Given the description of an element on the screen output the (x, y) to click on. 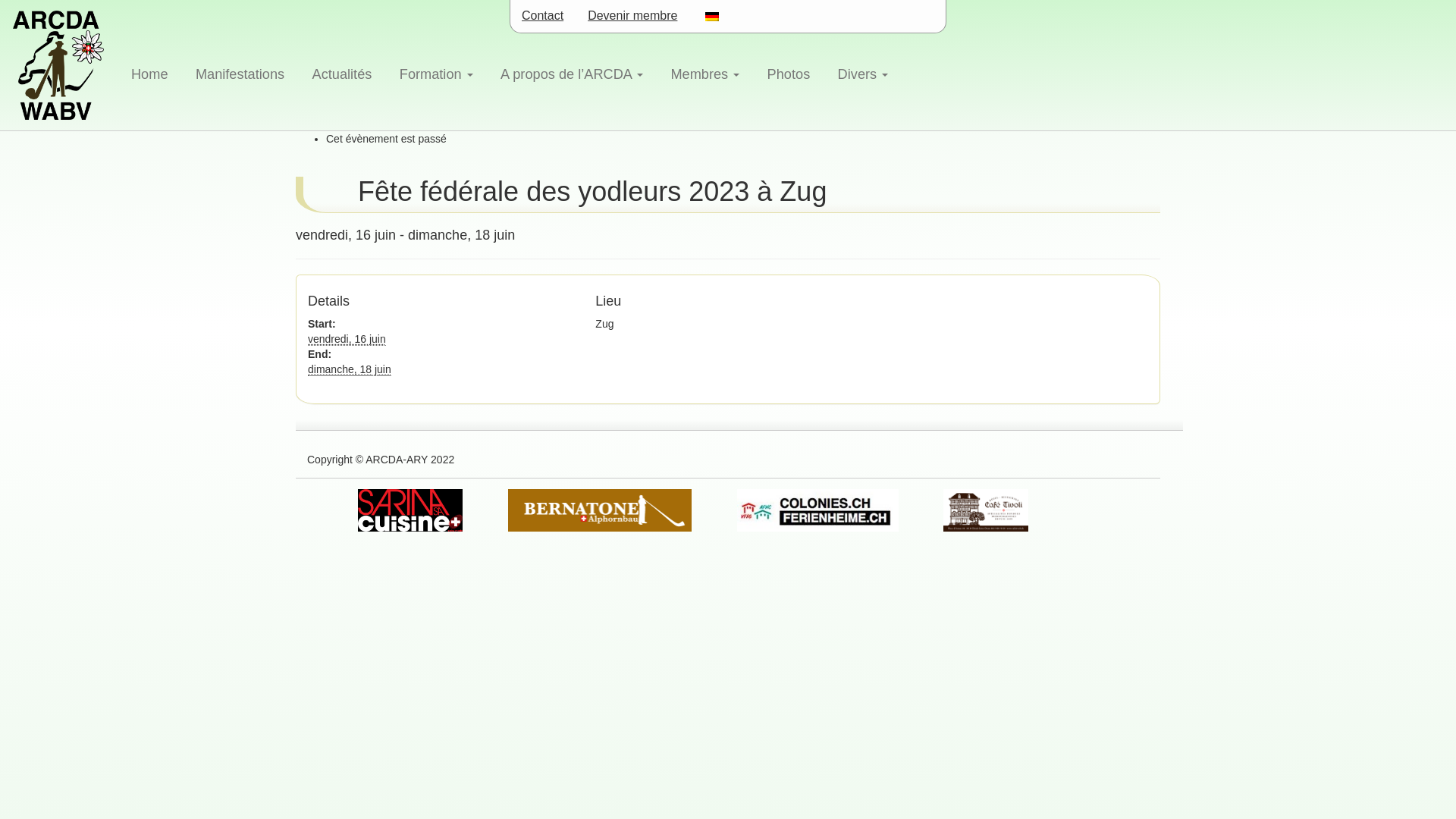
Home Element type: text (149, 74)
Photos Element type: text (788, 74)
Contact Element type: text (542, 16)
Formation Element type: text (435, 74)
  Element type: text (709, 16)
Divers Element type: text (862, 74)
Devenir membre Element type: text (632, 16)
Membres Element type: text (704, 74)
Manifestations Element type: text (240, 74)
